Given the description of an element on the screen output the (x, y) to click on. 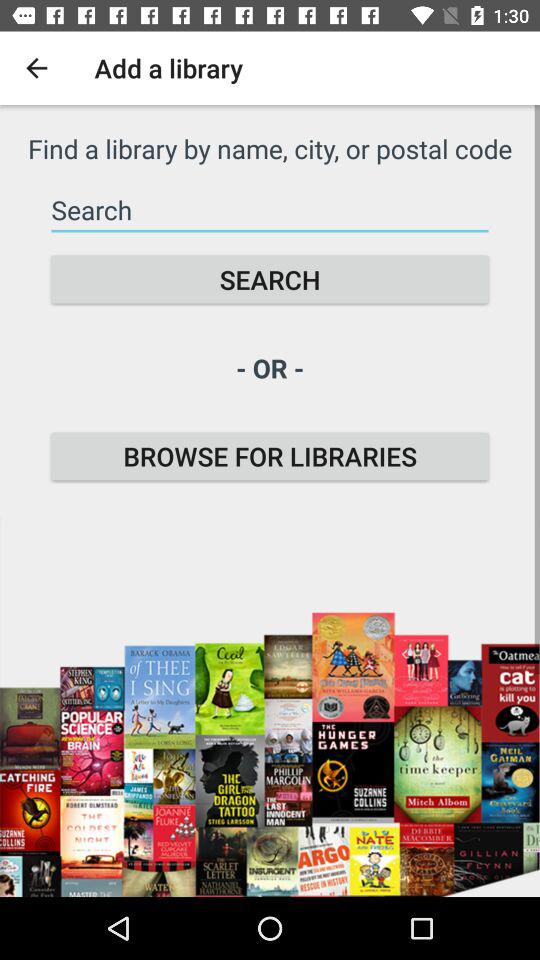
select the icon below the find a library (269, 210)
